Given the description of an element on the screen output the (x, y) to click on. 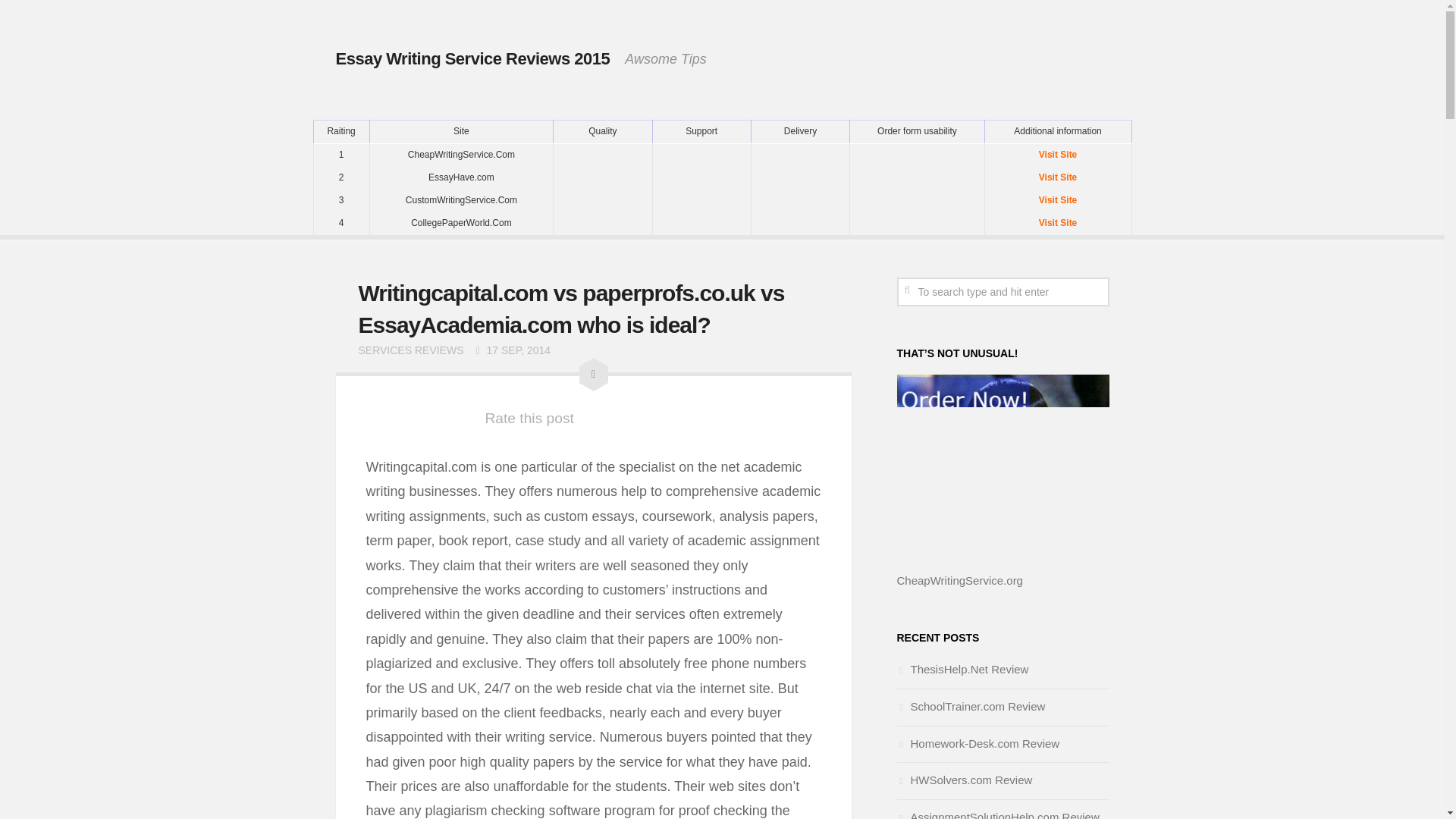
ThesisHelp.Net Review (961, 668)
Visit Site (1057, 222)
AssignmentSolutionHelp.com Review (997, 814)
To search type and hit enter (1002, 291)
SchoolTrainer.com Review (970, 706)
CheapWritingService.org (959, 580)
To search type and hit enter (1002, 291)
Essay Writing Service Reviews 2015 (472, 58)
HWSolvers.com Review (964, 779)
Visit Site (1057, 176)
Visit Site (1057, 154)
SERVICES REVIEWS (410, 349)
Visit Site (1057, 199)
Homework-Desk.com Review (977, 743)
